Given the description of an element on the screen output the (x, y) to click on. 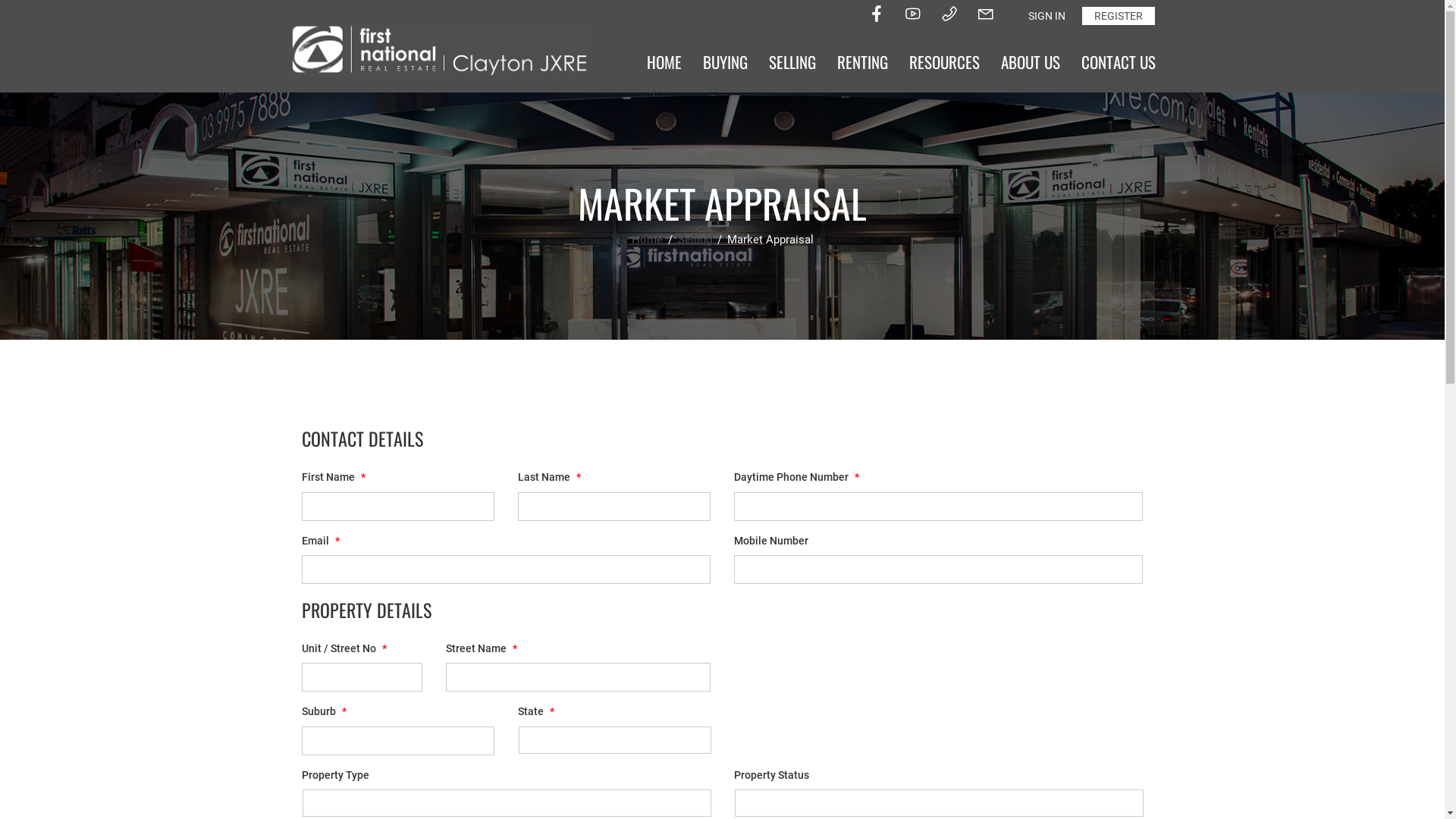
RESOURCES Element type: text (943, 61)
SIGN IN Element type: text (1046, 15)
Selling Element type: text (696, 239)
CONTACT US Element type: text (1118, 61)
REGISTER Element type: text (1117, 15)
RENTING Element type: text (862, 61)
SELLING Element type: text (792, 61)
Home Element type: text (647, 239)
HOME Element type: text (663, 61)
BUYING Element type: text (724, 61)
ABOUT US Element type: text (1030, 61)
